Given the description of an element on the screen output the (x, y) to click on. 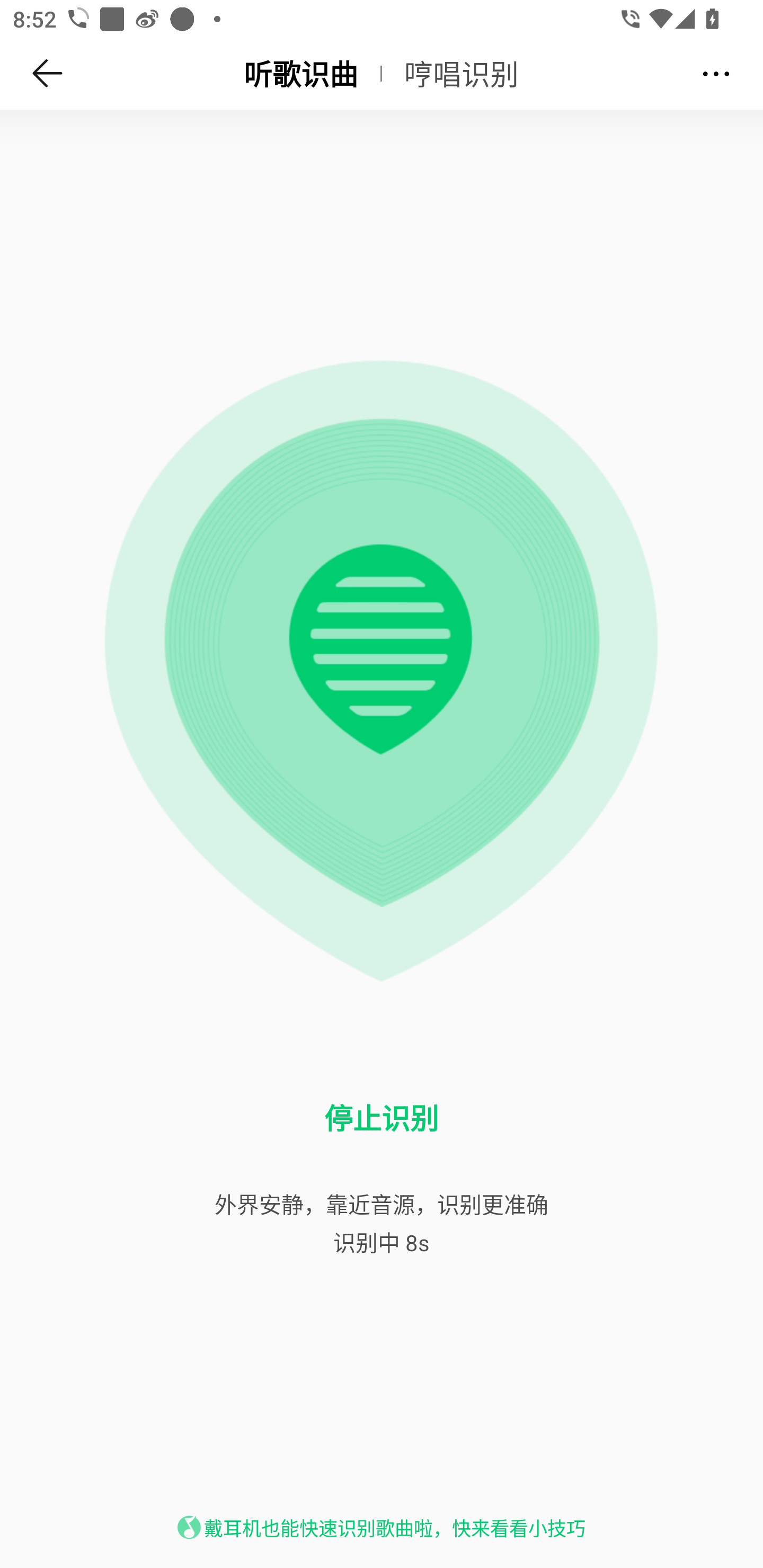
返回 (47, 73)
更多 (715, 73)
听歌识曲 (300, 73)
哼唱识别 (461, 73)
停止识别 (381, 1117)
外界安静，靠近音源，识别更准确 (381, 1203)
戴耳机也能快速识别歌曲啦，快来看看小技巧 (394, 1527)
